Given the description of an element on the screen output the (x, y) to click on. 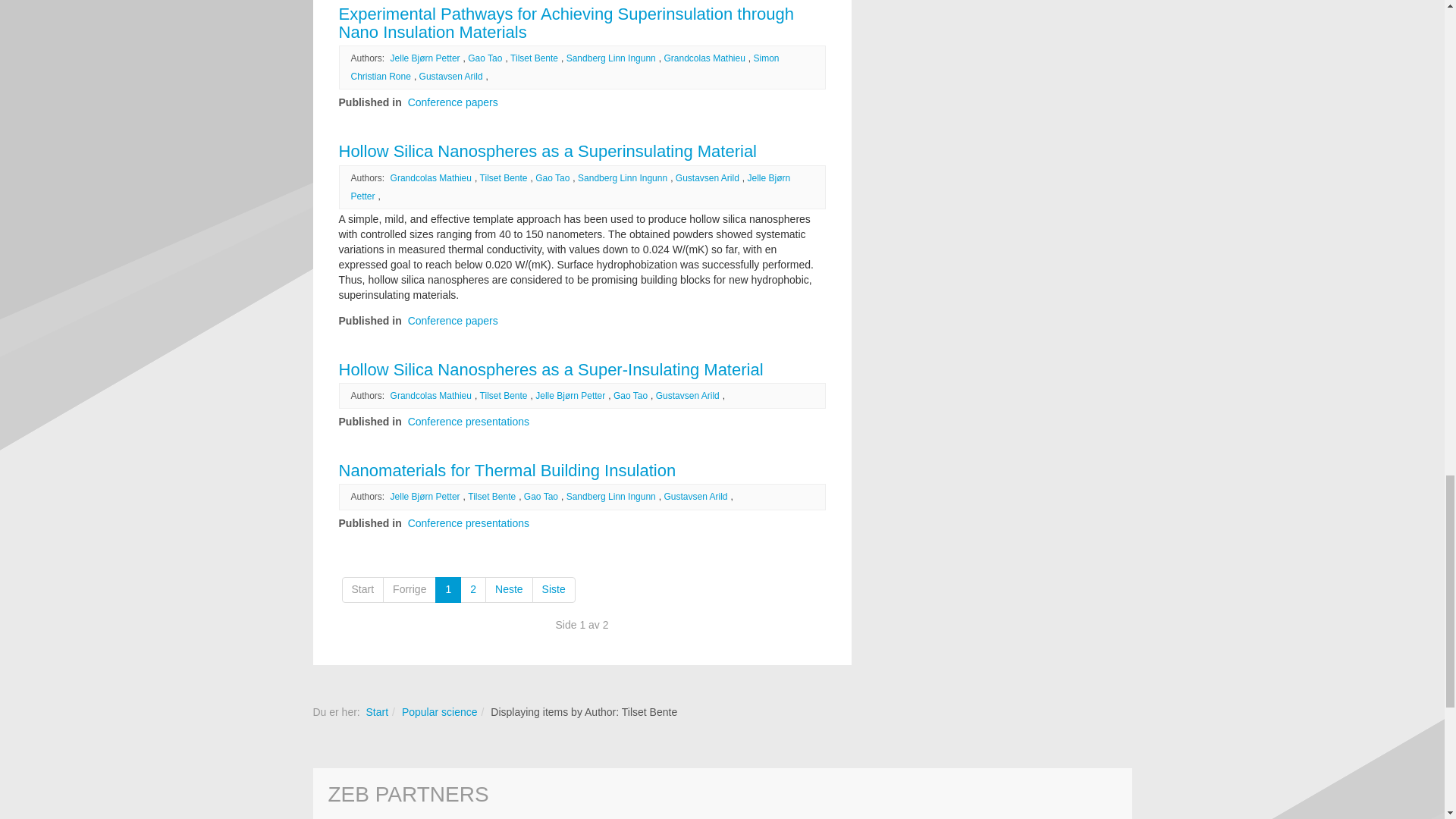
Siste (553, 589)
Neste (508, 589)
2 (473, 589)
